Given the description of an element on the screen output the (x, y) to click on. 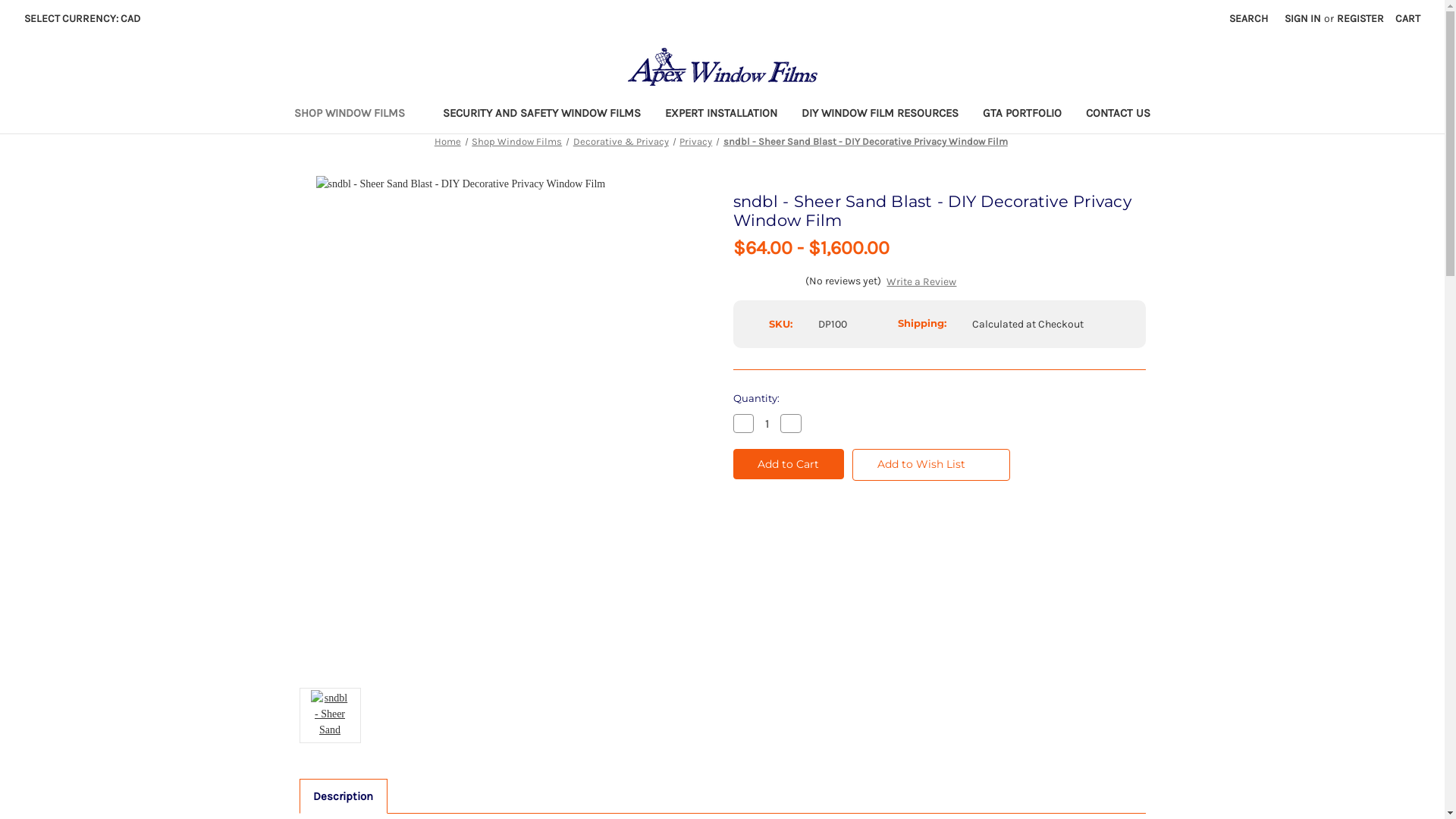
REGISTER Element type: text (1360, 18)
Email Element type: hover (765, 540)
Print Element type: hover (791, 540)
Facebook Element type: hover (739, 540)
Shop Window Films Element type: text (516, 141)
SELECT CURRENCY: CAD Element type: text (87, 18)
Add to Cart Element type: text (788, 463)
DIY WINDOW FILM RESOURCES Element type: text (879, 114)
EXPERT INSTALLATION Element type: text (720, 114)
Twitter Element type: hover (817, 540)
Pinterest Element type: hover (842, 540)
SEARCH Element type: text (1248, 18)
GTA PORTFOLIO Element type: text (1021, 114)
Apex Window Films Element type: hover (722, 66)
CART Element type: text (1407, 18)
Write a Review Element type: text (921, 281)
Home Element type: text (447, 141)
SIGN IN Element type: text (1302, 18)
SHOP WINDOW FILMS Element type: text (356, 114)
SECURITY AND SAFETY WINDOW FILMS Element type: text (541, 114)
CONTACT US Element type: text (1117, 114)
Description Element type: text (343, 795)
Privacy Element type: text (695, 141)
Decorative & Privacy Element type: text (620, 141)
Add to Wish List Element type: text (931, 464)
